Given the description of an element on the screen output the (x, y) to click on. 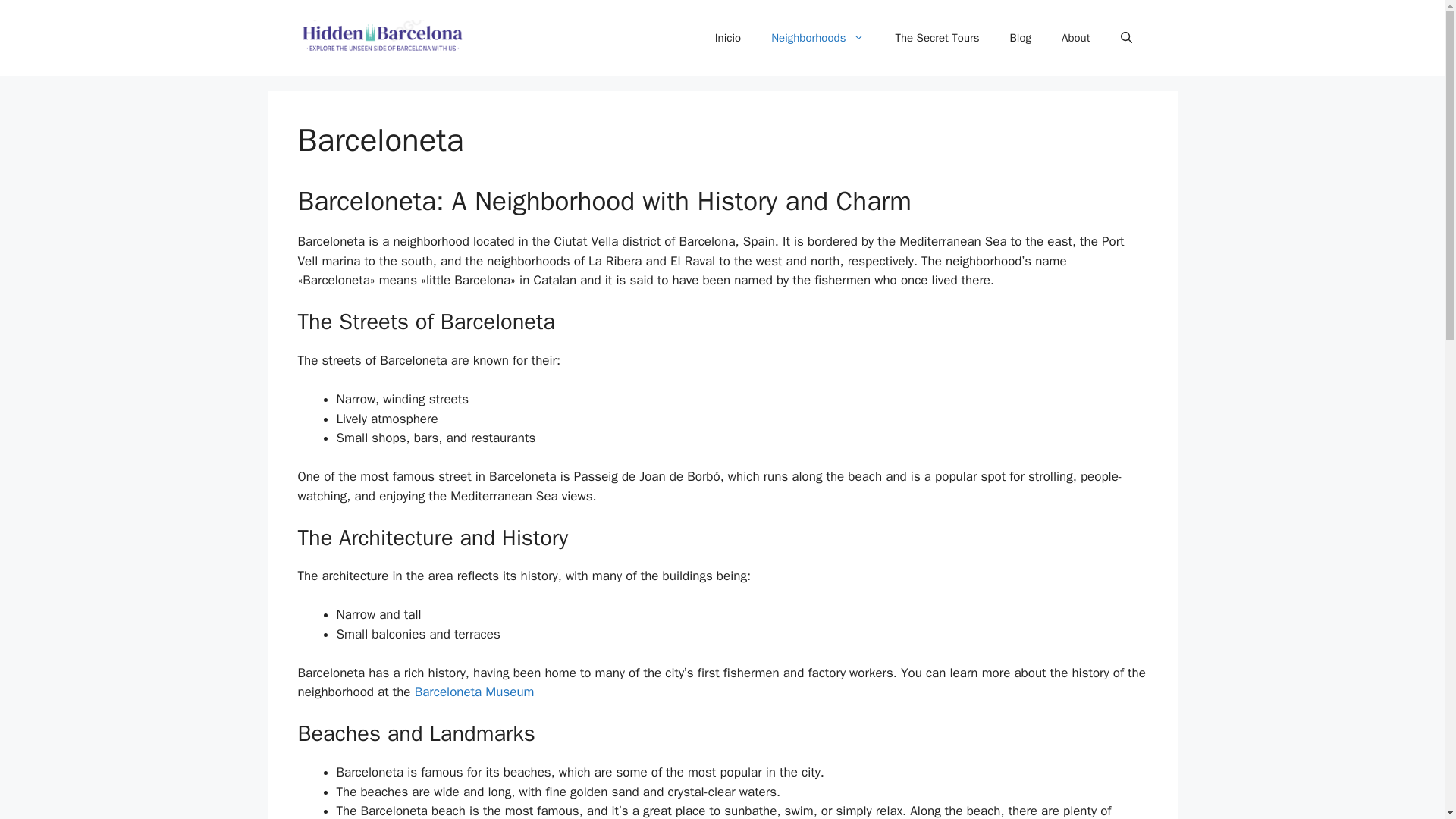
Blog (1020, 37)
The Secret Tours (936, 37)
Barceloneta Museum (474, 691)
Inicio (727, 37)
About (1075, 37)
Neighborhoods (817, 37)
